Given the description of an element on the screen output the (x, y) to click on. 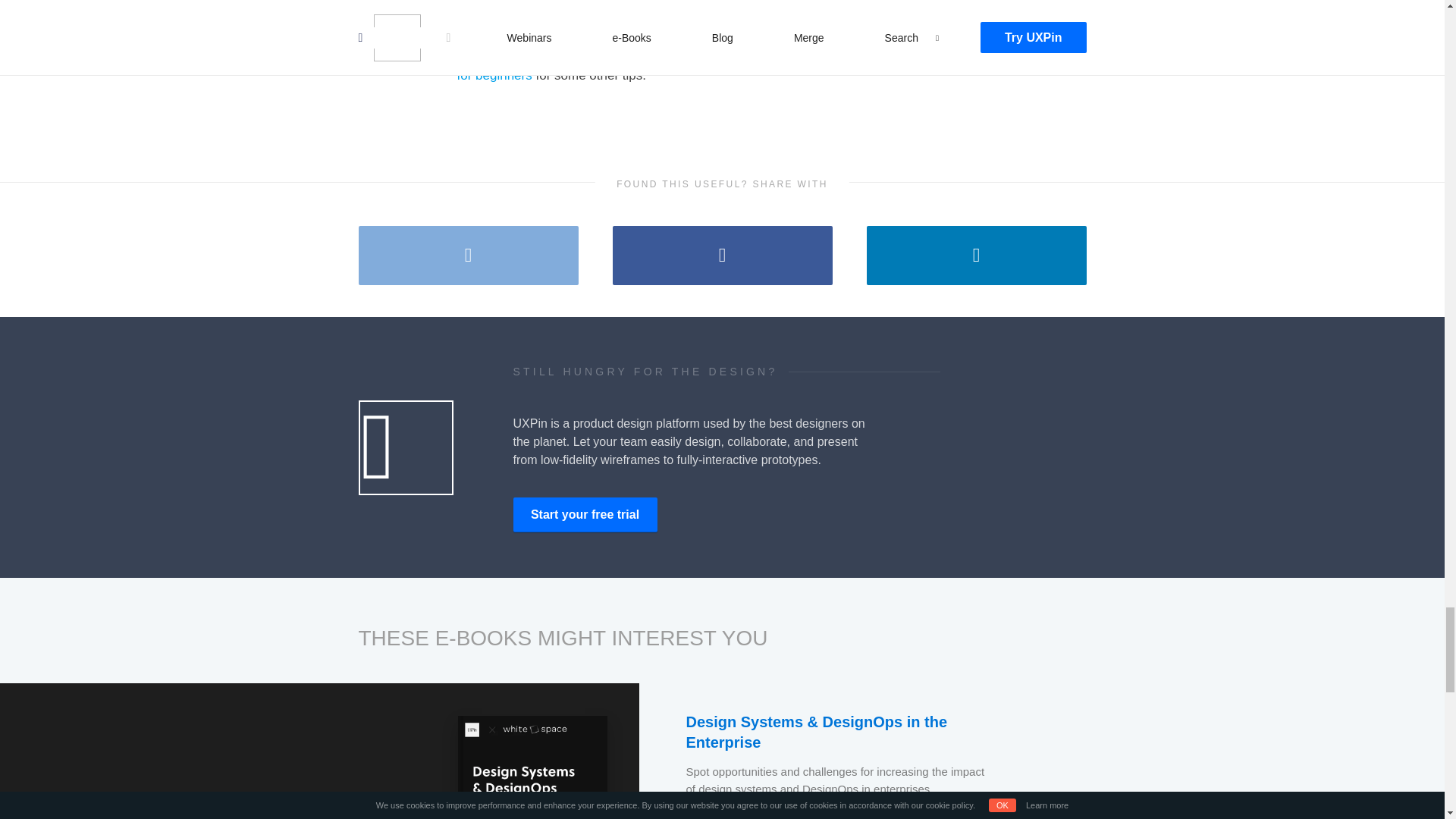
Start your free trial (584, 514)
UXPin (584, 514)
Share on Twitter (468, 255)
Share on Linkedin (976, 255)
Share on Facebook (722, 255)
UX design for beginners (714, 63)
